Given the description of an element on the screen output the (x, y) to click on. 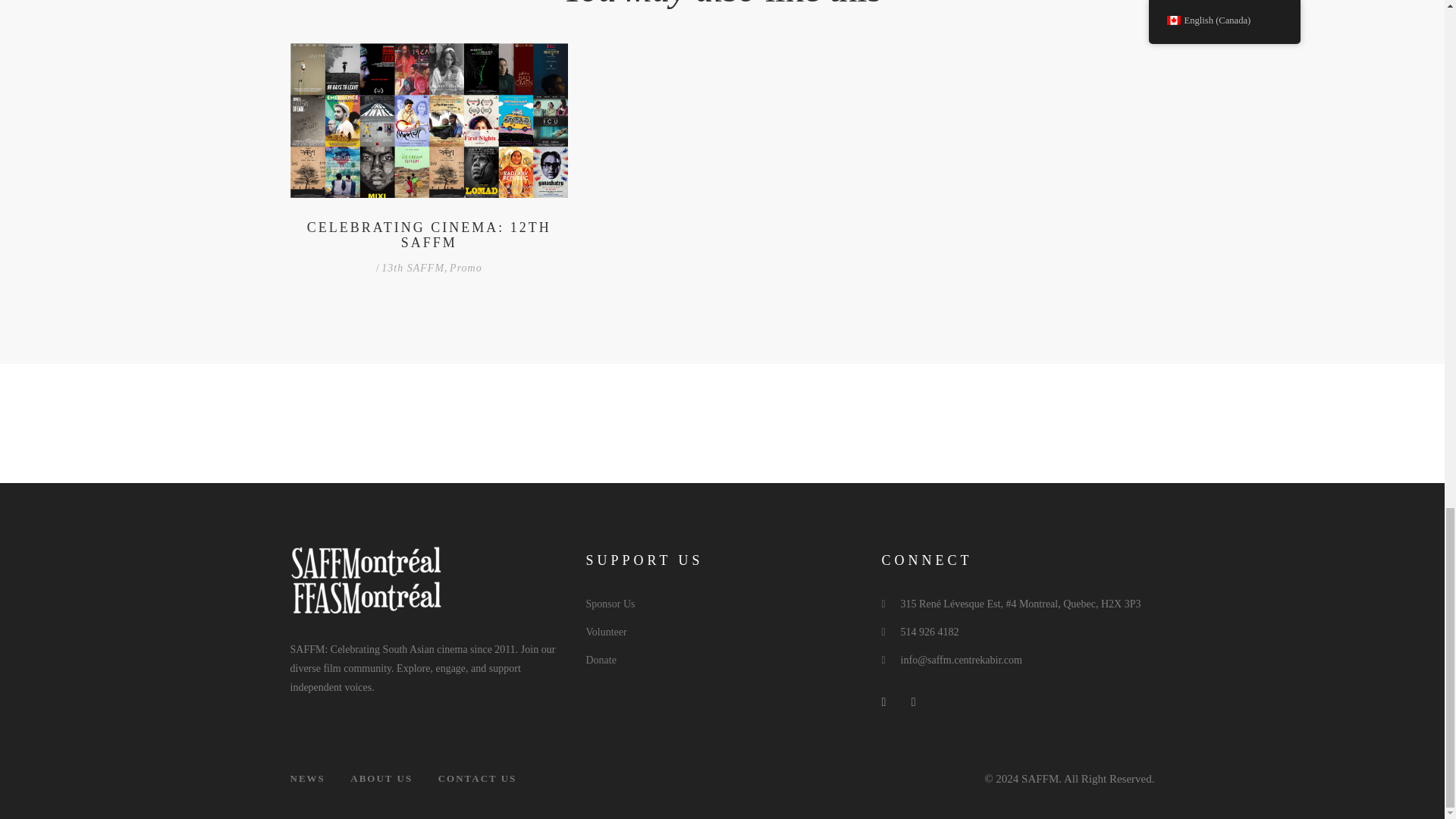
Logo-Light (365, 580)
